Given the description of an element on the screen output the (x, y) to click on. 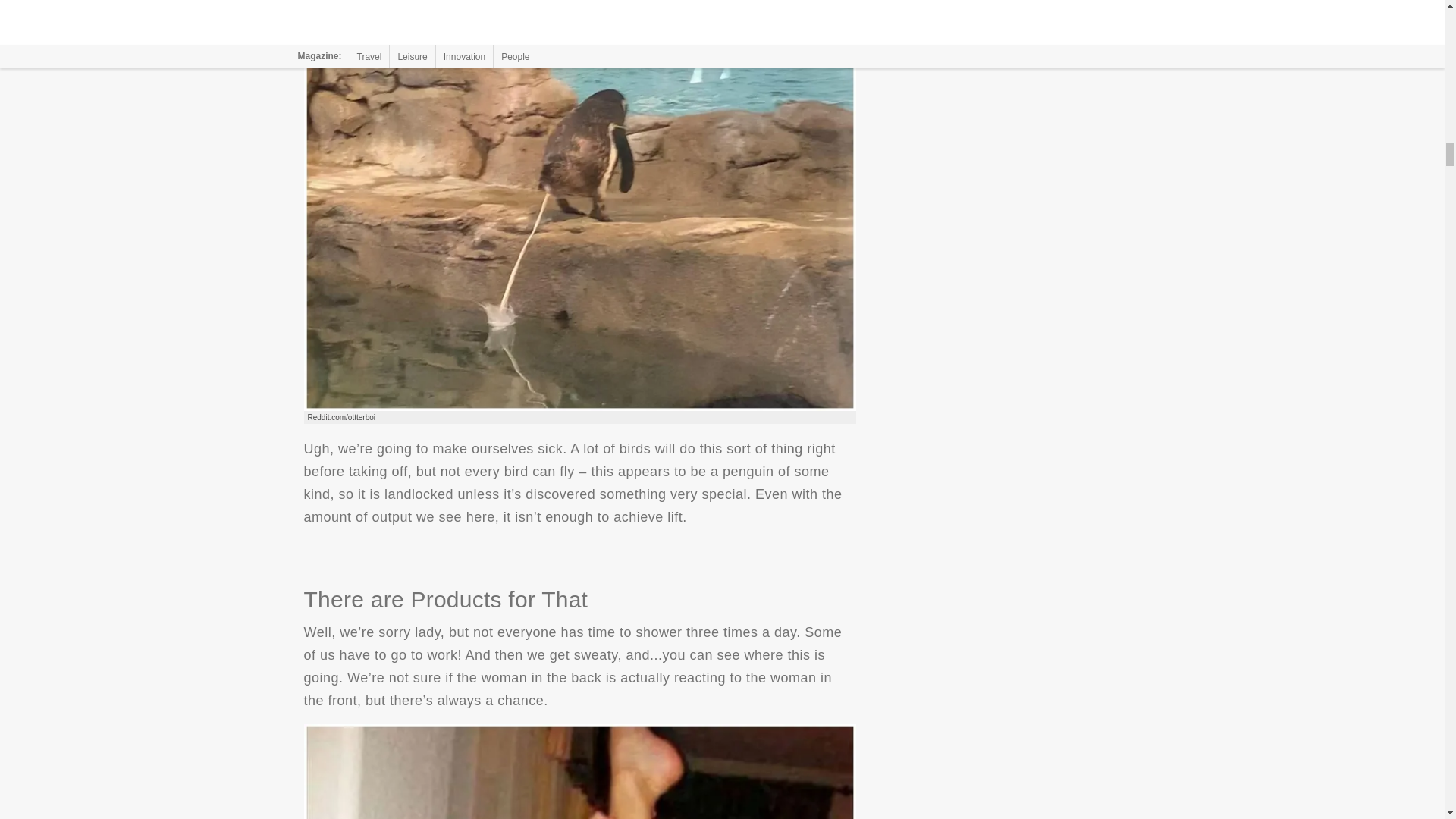
There are Products for That (579, 771)
